Given the description of an element on the screen output the (x, y) to click on. 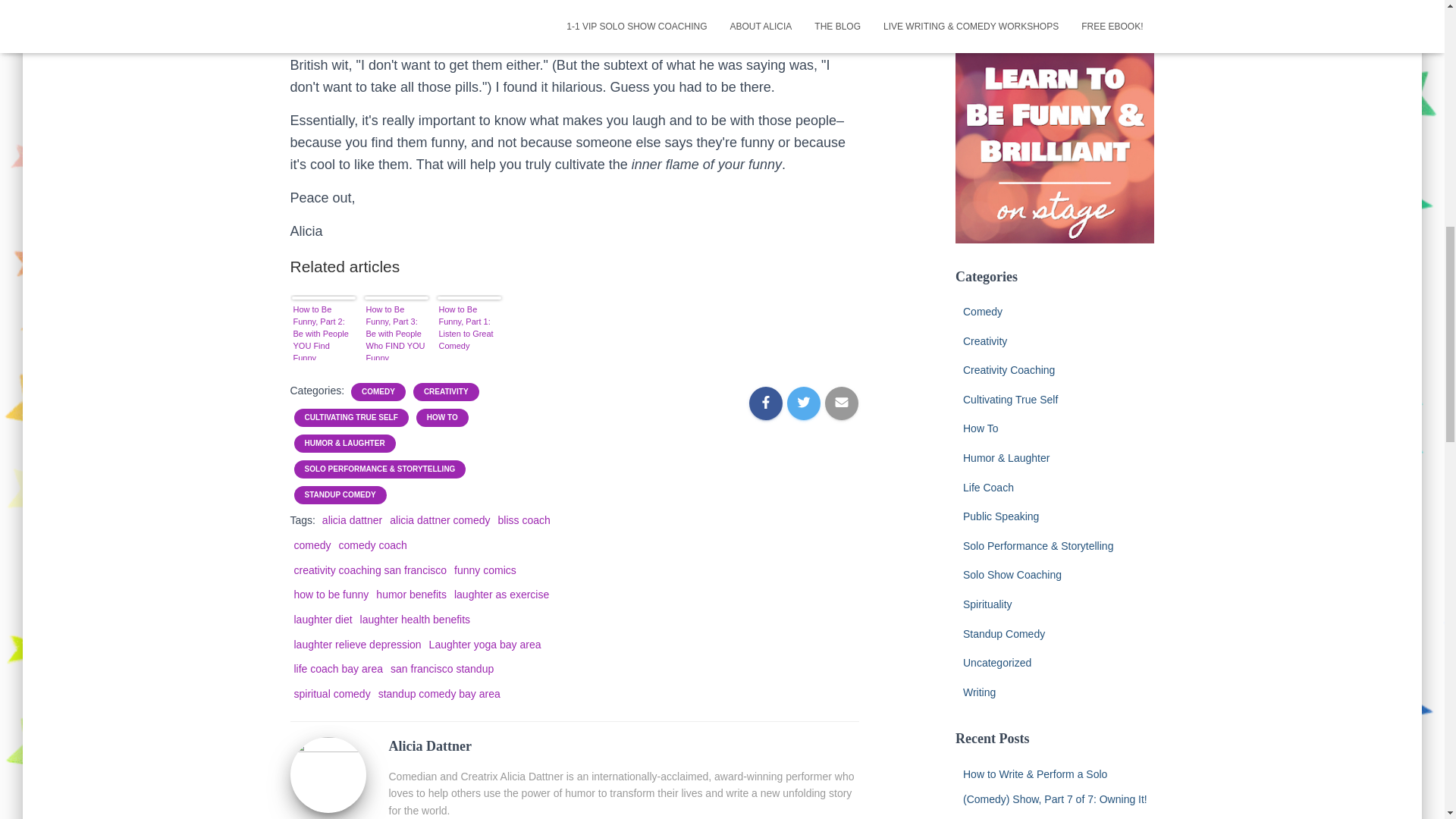
comedy (312, 544)
bliss coach (523, 520)
creativity coaching san francisco (370, 570)
COMEDY (377, 391)
STANDUP COMEDY (339, 494)
spiritual comedy (332, 693)
laughter as exercise (501, 594)
alicia dattner (351, 520)
HOW TO (442, 417)
humor benefits (410, 594)
